Given the description of an element on the screen output the (x, y) to click on. 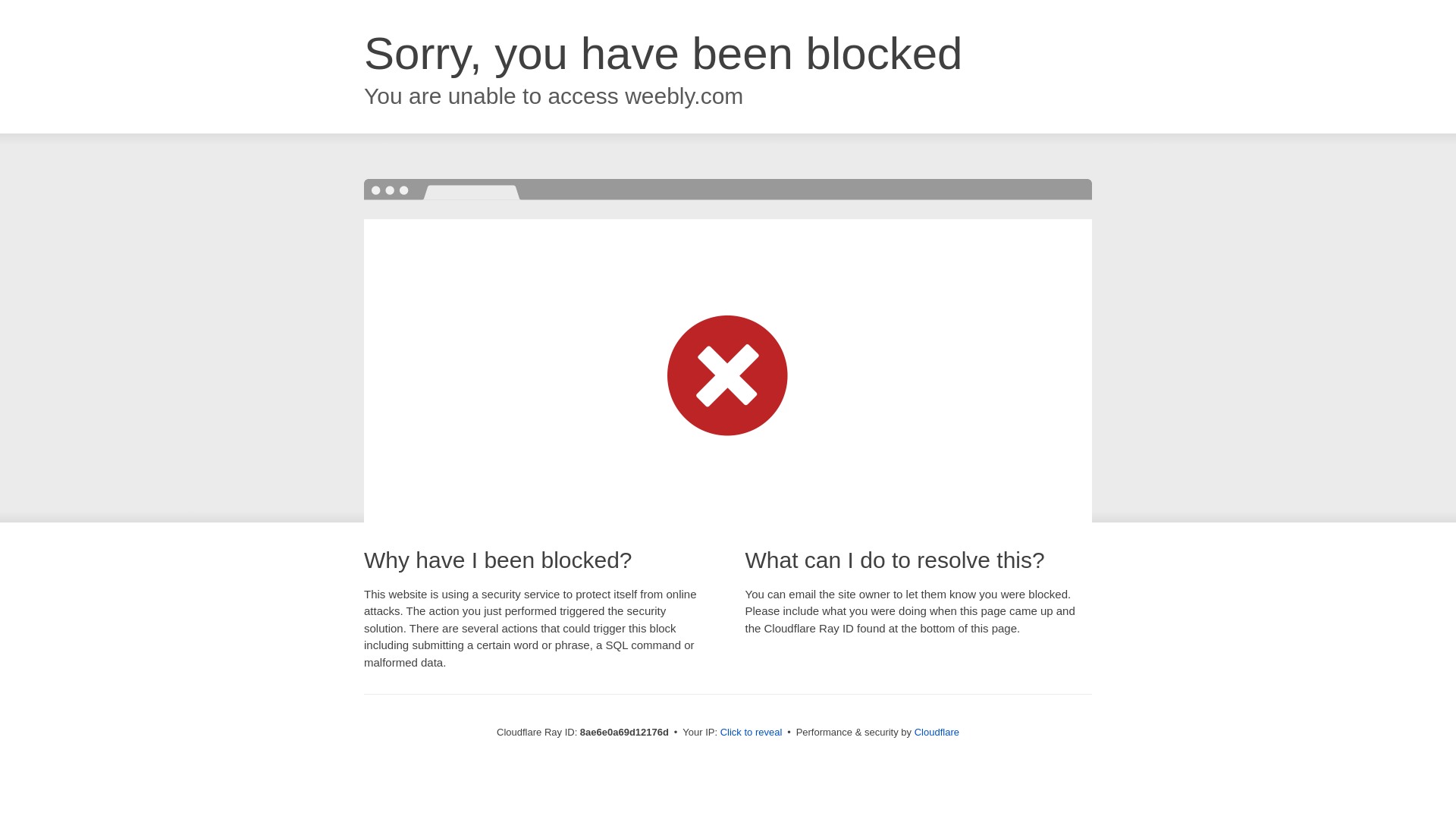
Click to reveal (751, 732)
Cloudflare (936, 731)
